Given the description of an element on the screen output the (x, y) to click on. 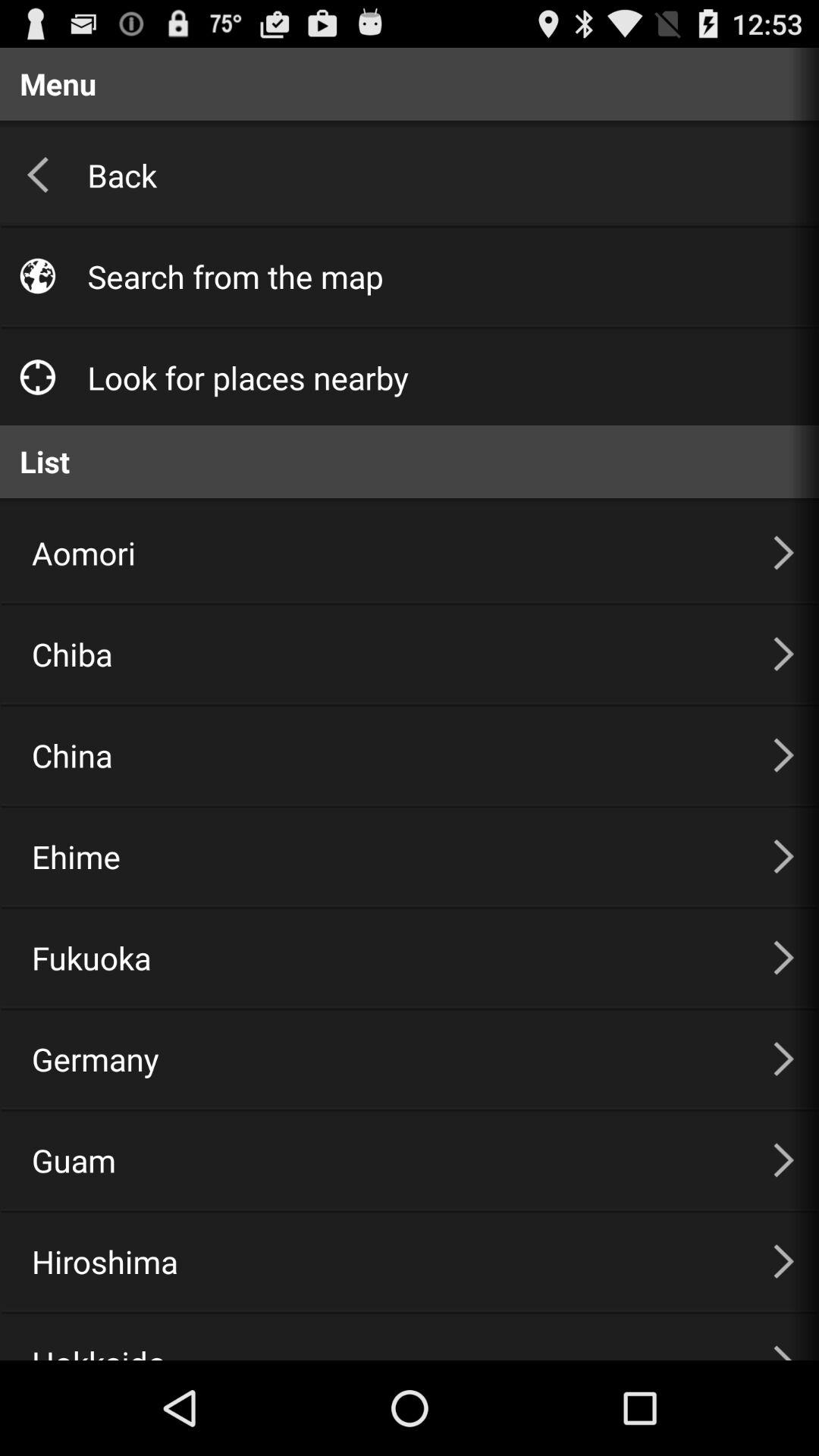
launch item below the aomori app (384, 653)
